Given the description of an element on the screen output the (x, y) to click on. 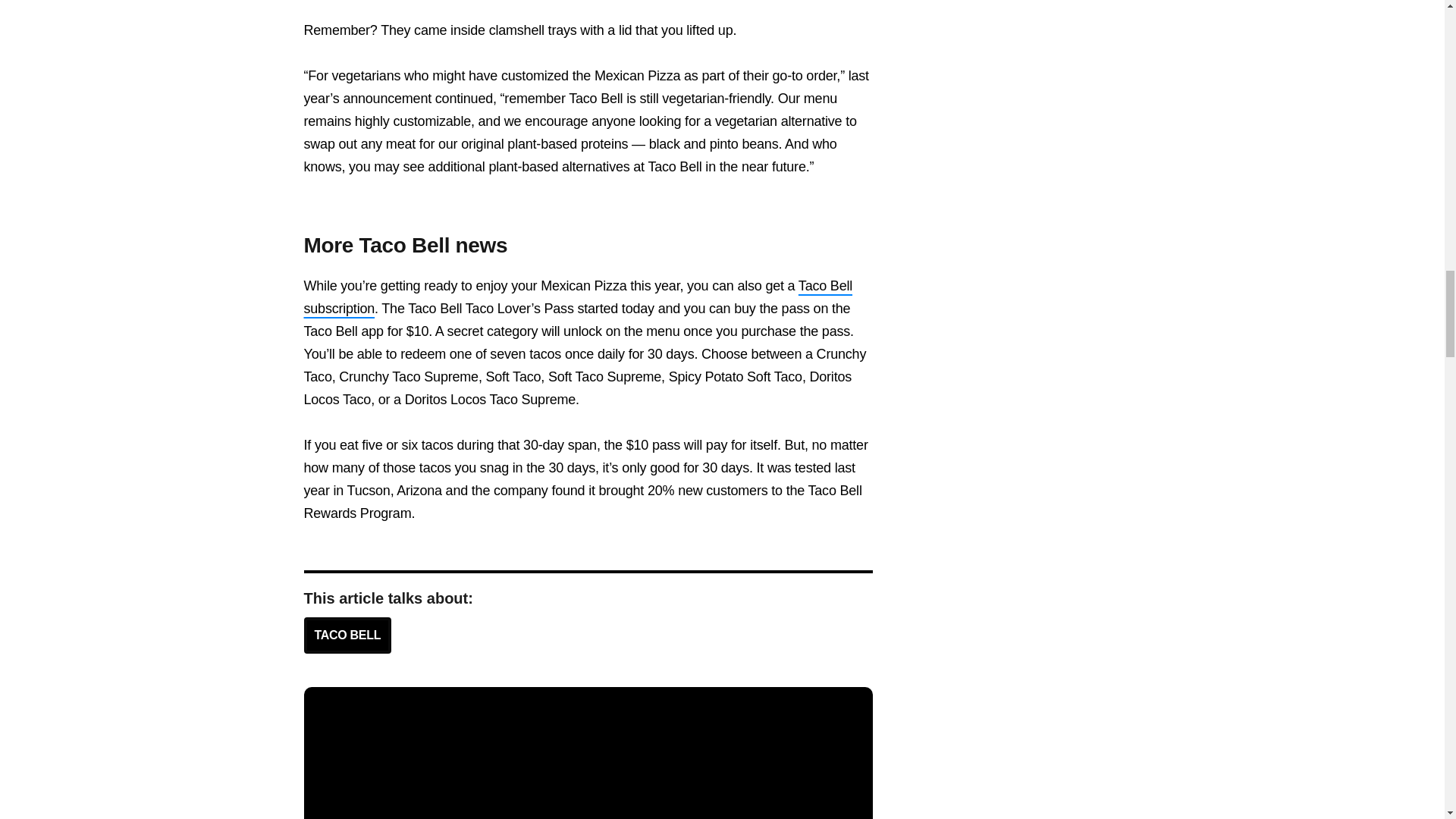
3rd party ad content (587, 771)
